Given the description of an element on the screen output the (x, y) to click on. 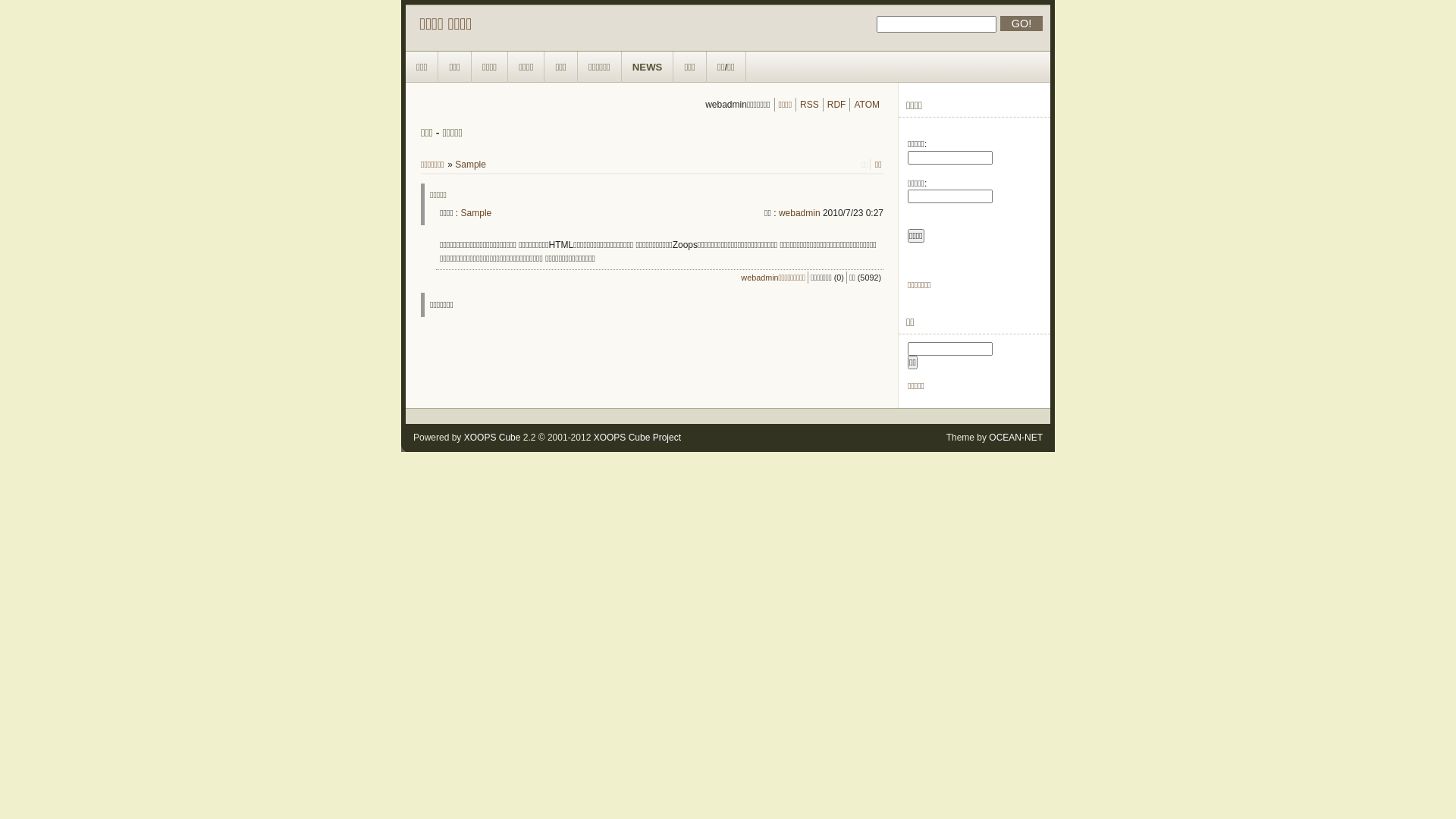
OCEAN-NET Element type: text (1015, 437)
RDF Element type: text (836, 104)
GO! Element type: text (1021, 23)
ATOM Element type: text (866, 104)
NEWS Element type: text (647, 66)
Sample Element type: text (470, 164)
webadmin Element type: text (799, 212)
XOOPS Cube Element type: text (492, 437)
RSS Element type: text (809, 104)
Sample Element type: text (476, 212)
XOOPS Cube Project Element type: text (636, 437)
